Given the description of an element on the screen output the (x, y) to click on. 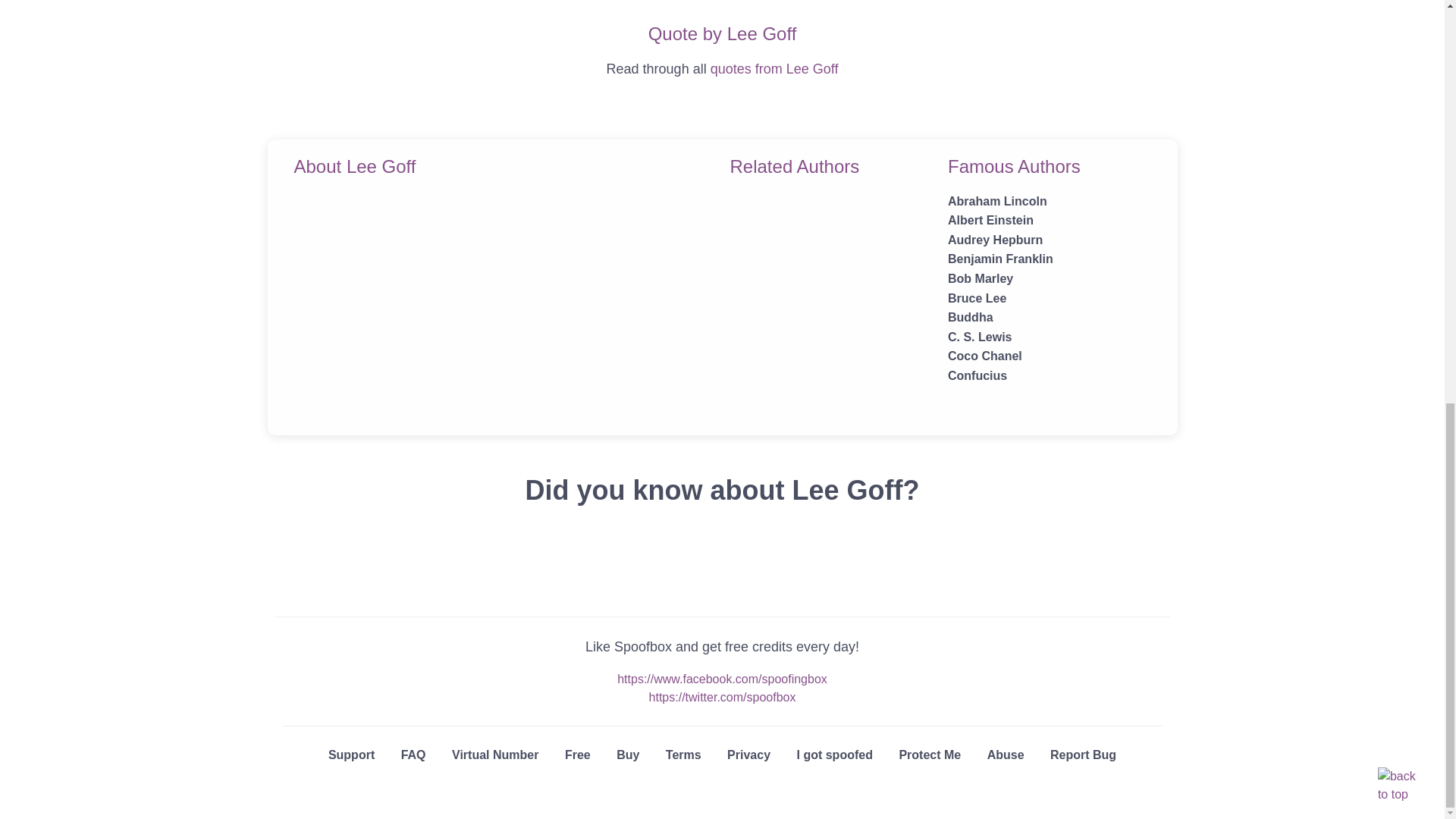
All Quotes by Lee  Goff (774, 68)
